Given the description of an element on the screen output the (x, y) to click on. 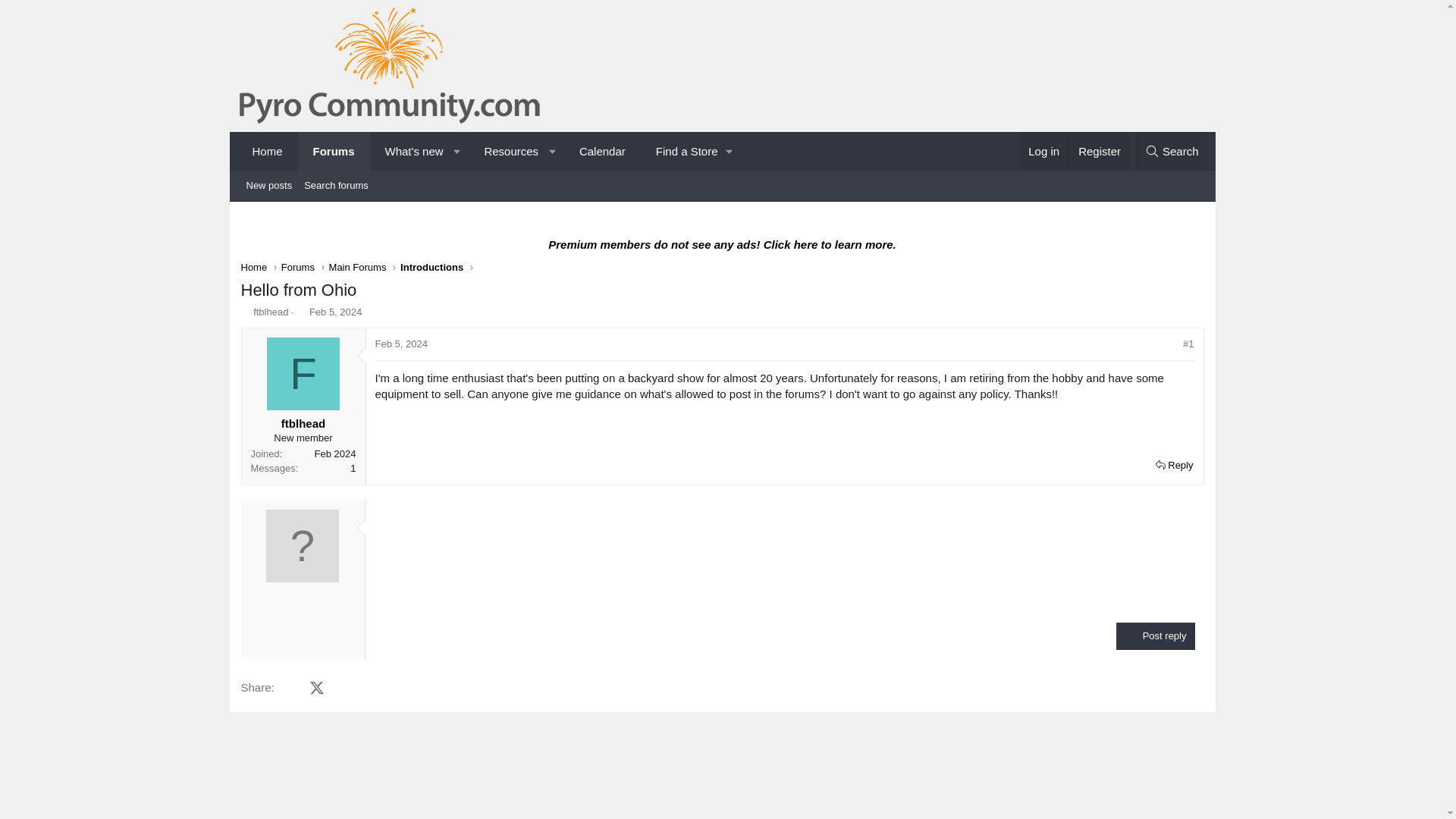
Thread starter (721, 185)
Calendar (245, 311)
Feb 5, 2024 at 7:18 PM (602, 150)
Forums (400, 343)
Log in (333, 150)
Forums (1043, 150)
Feb 5, 2024 at 7:18 PM (298, 267)
Search forums (334, 311)
Search (336, 185)
Home (1171, 150)
Home (252, 267)
